Given the description of an element on the screen output the (x, y) to click on. 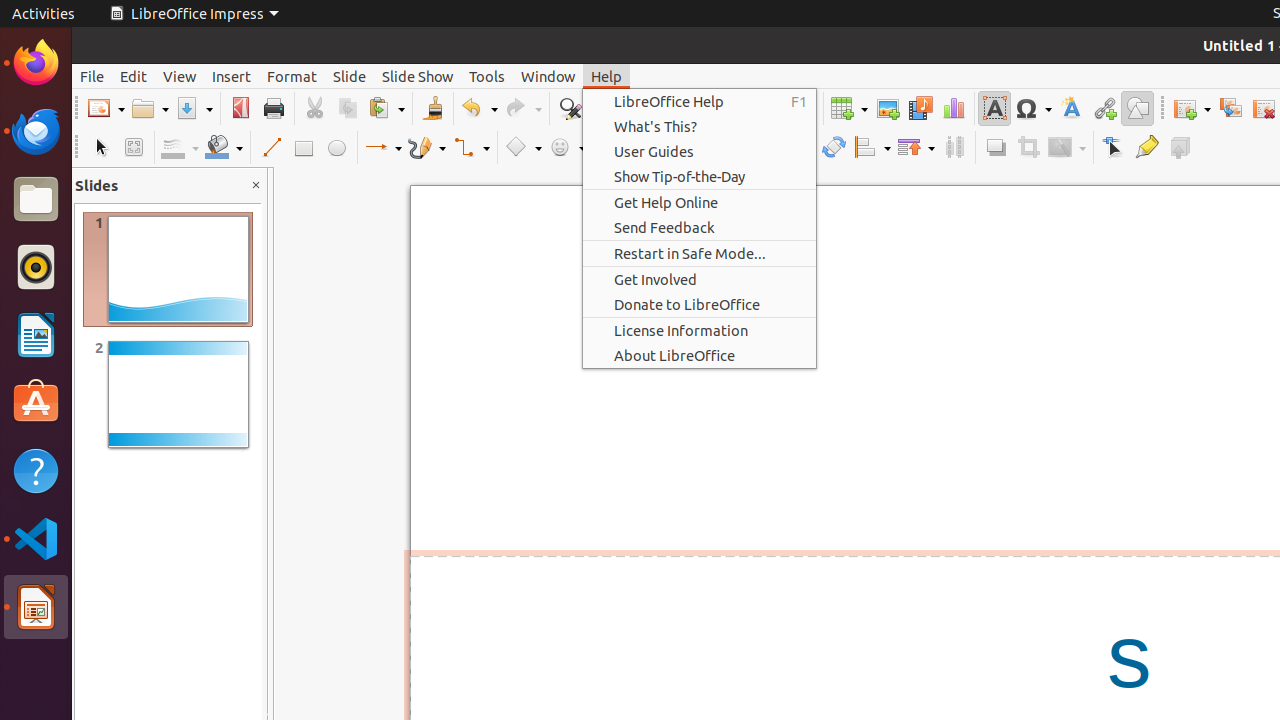
LibreOffice Impress Element type: menu (193, 13)
Fill Color Element type: push-button (224, 147)
Close Pane Element type: push-button (255, 185)
Tools Element type: menu (487, 76)
Get Involved Element type: menu-item (699, 279)
